Given the description of an element on the screen output the (x, y) to click on. 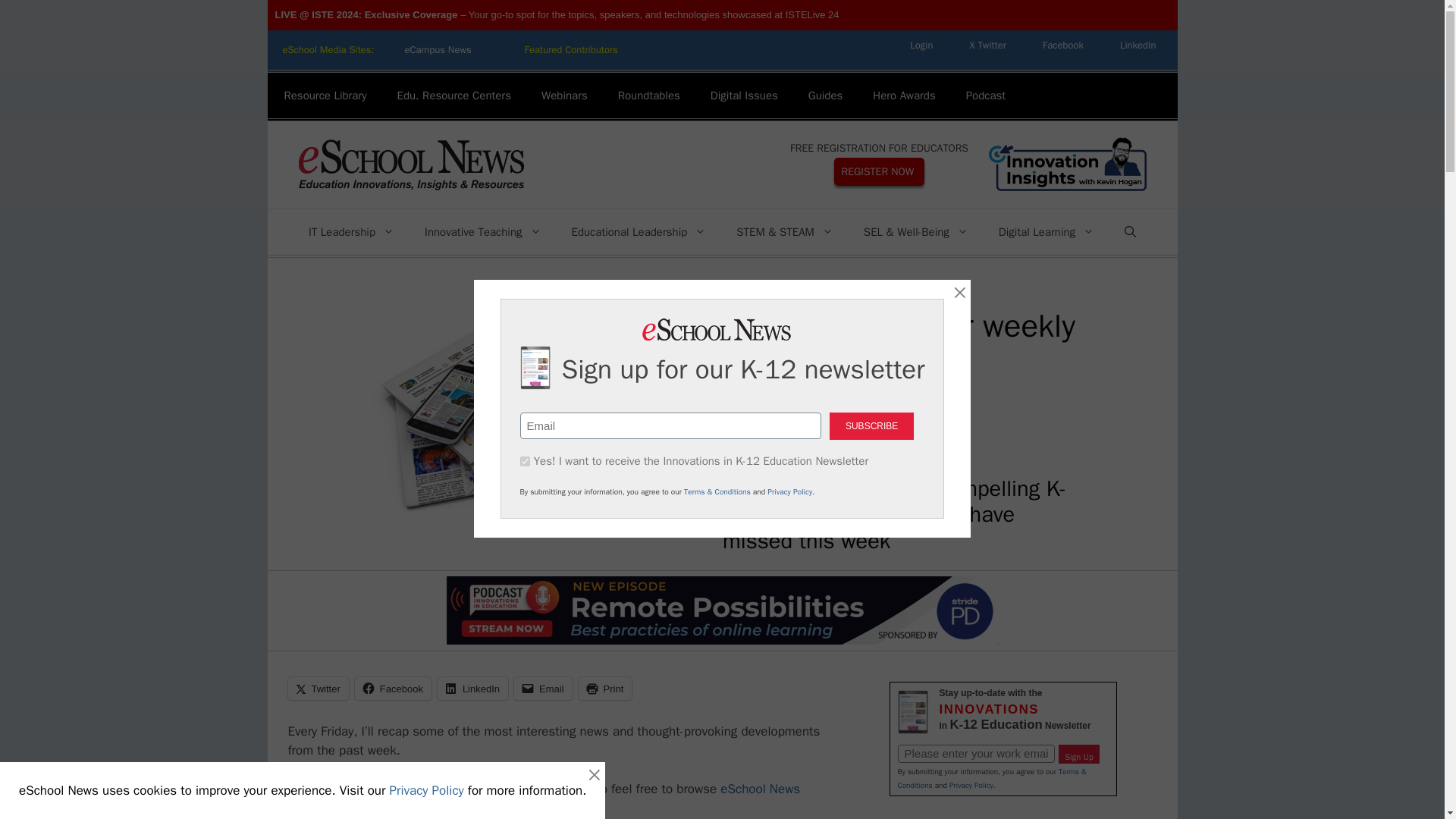
Resource Library (324, 94)
SUBSCRIBE (871, 425)
X Twitter (987, 45)
100 (524, 461)
eCampus News (437, 50)
eSchool Media Sites: (327, 50)
REGISTER NOW  (879, 171)
Twitter (987, 45)
Featured Contributors (571, 50)
Click to share on Facebook (392, 688)
eCampus News (437, 50)
Hero Awards (903, 94)
Facebook (1063, 45)
Login (921, 45)
Roundtables (648, 94)
